Given the description of an element on the screen output the (x, y) to click on. 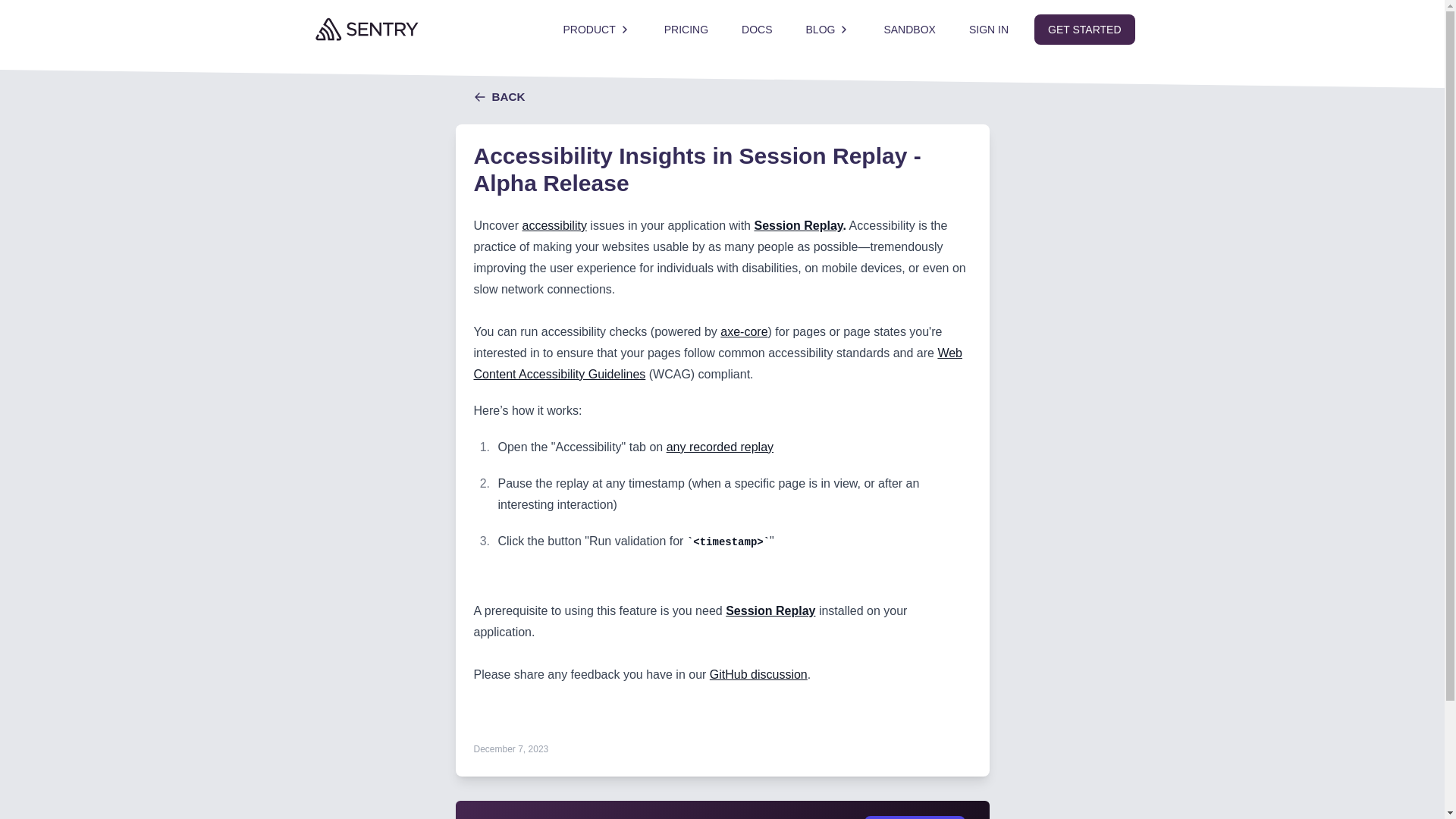
axe-core (743, 331)
BACK (498, 97)
any recorded replay (719, 446)
Web Content Accessibility Guidelines (717, 363)
SANDBOX (909, 28)
Session Replay (770, 610)
PRICING (686, 28)
GitHub discussion (759, 674)
Sentry error monitoring (425, 28)
Session Replay (798, 225)
